Given the description of an element on the screen output the (x, y) to click on. 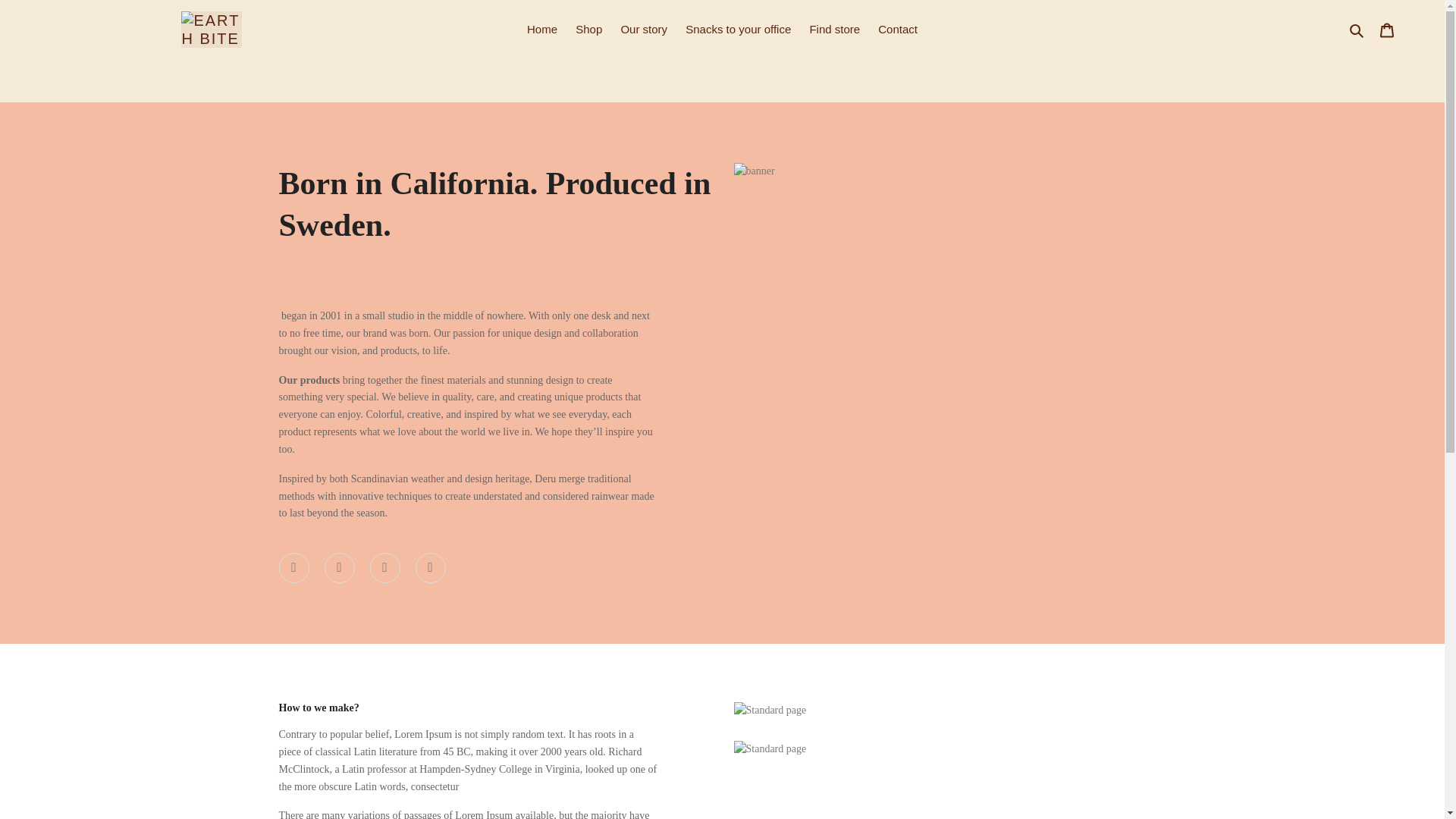
Snacks to your office (737, 29)
Find store (834, 29)
Search (1357, 29)
Shop (588, 29)
Our story (643, 29)
Cart (1387, 29)
Contact (897, 29)
Home (541, 29)
